Given the description of an element on the screen output the (x, y) to click on. 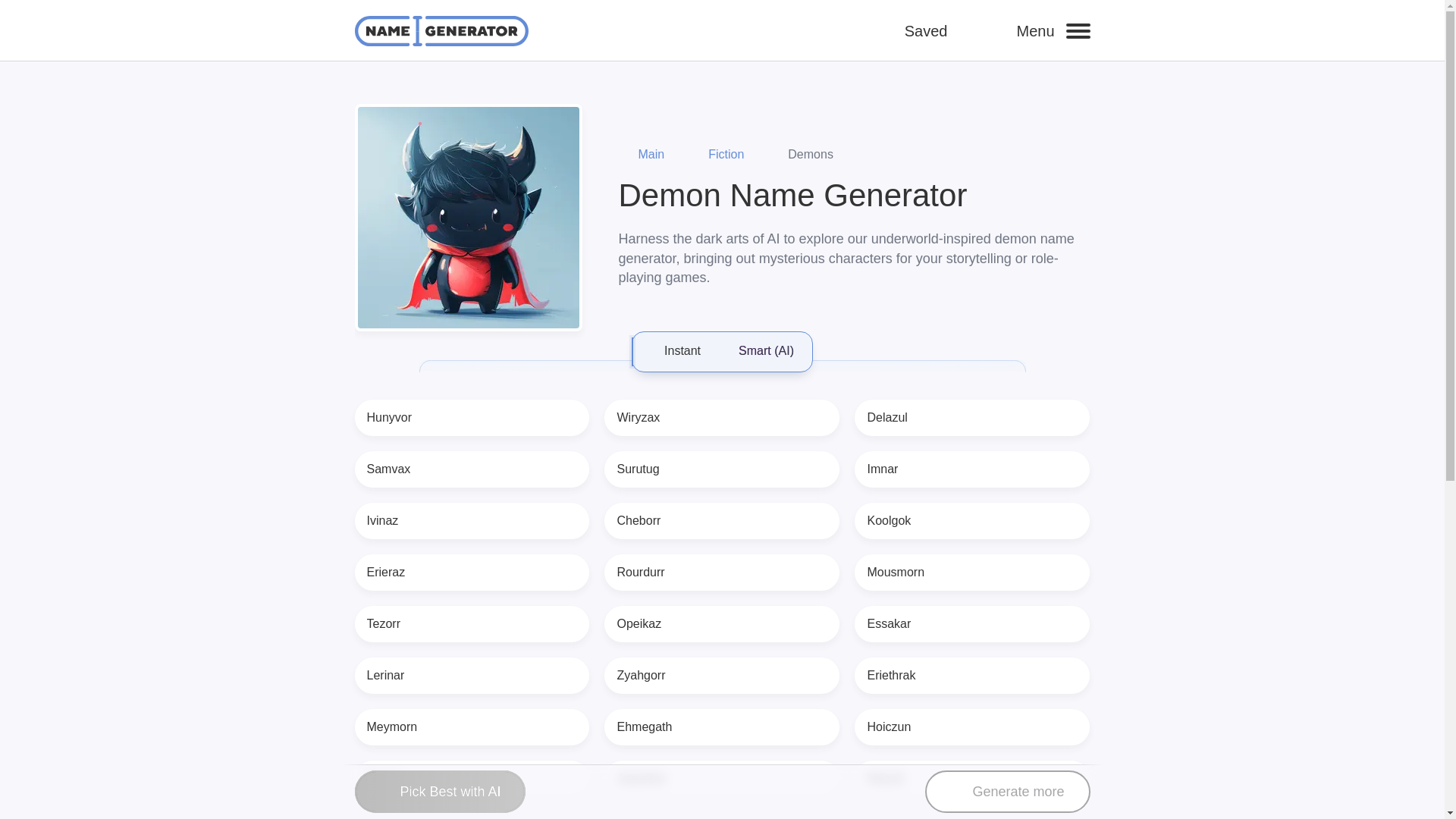
Menu (1053, 31)
Saved (942, 31)
Main (641, 154)
Fiction (716, 154)
